Given the description of an element on the screen output the (x, y) to click on. 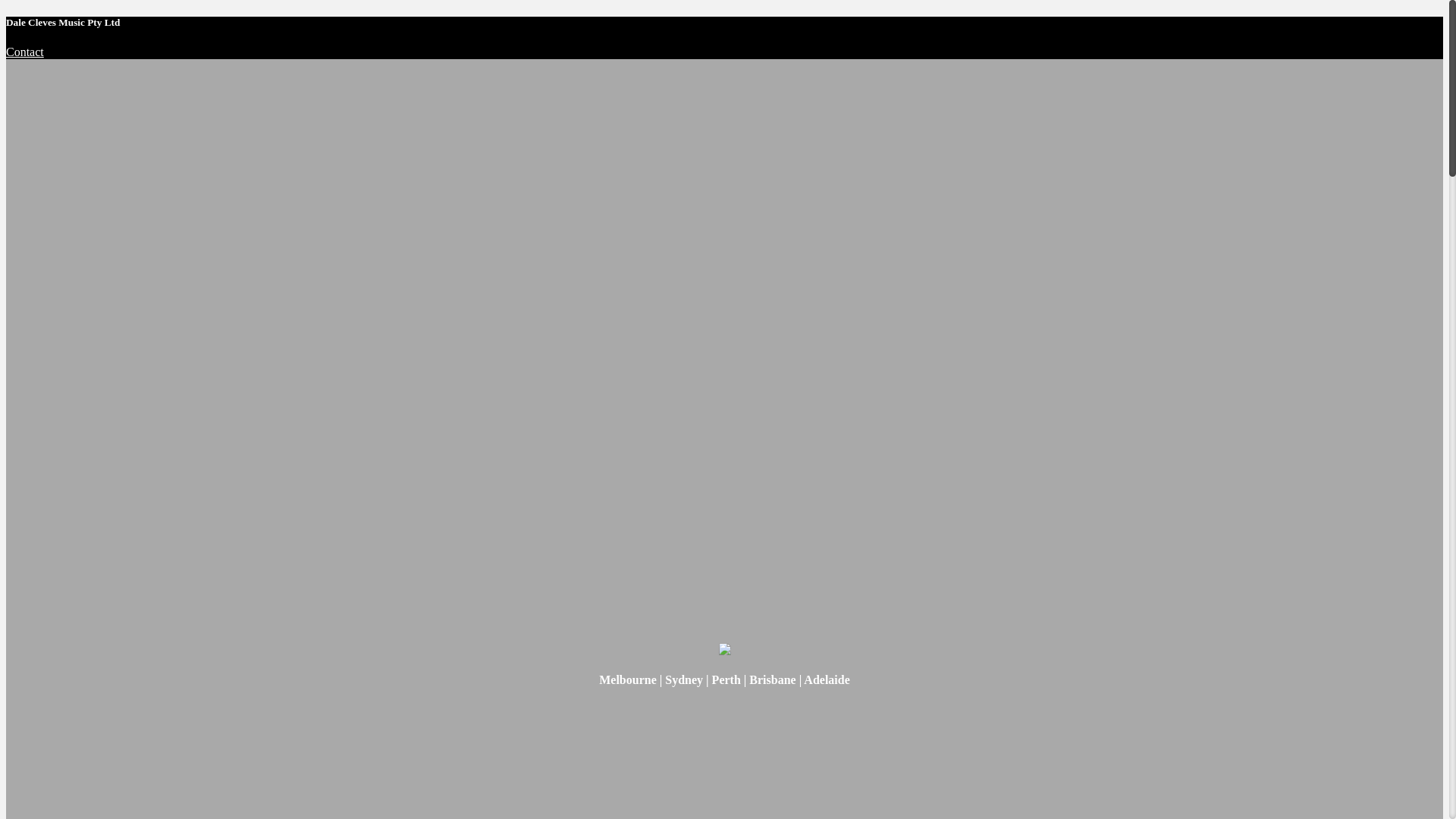
Contact Element type: text (24, 51)
